Given the description of an element on the screen output the (x, y) to click on. 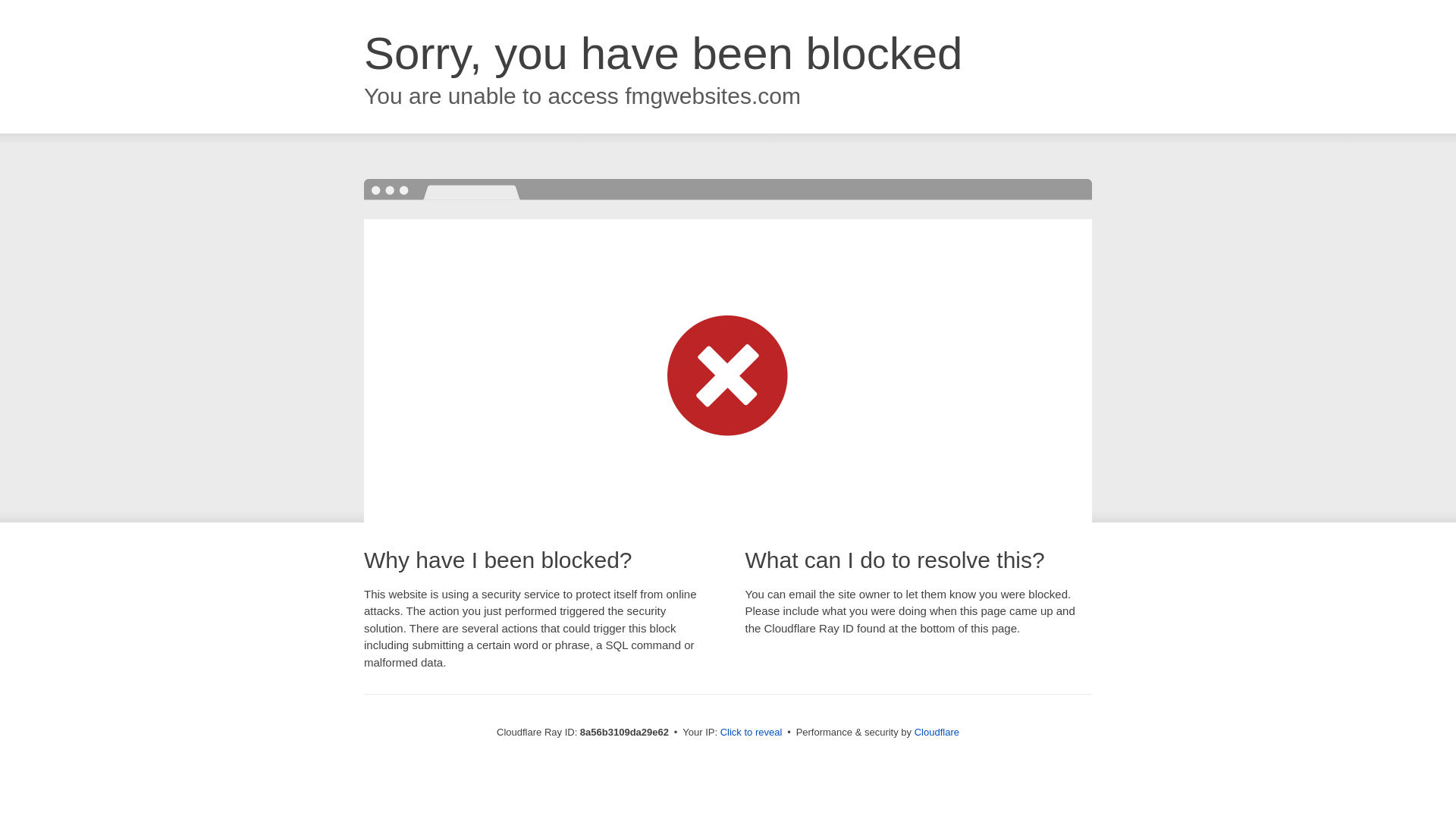
Cloudflare (936, 731)
Click to reveal (751, 732)
